Given the description of an element on the screen output the (x, y) to click on. 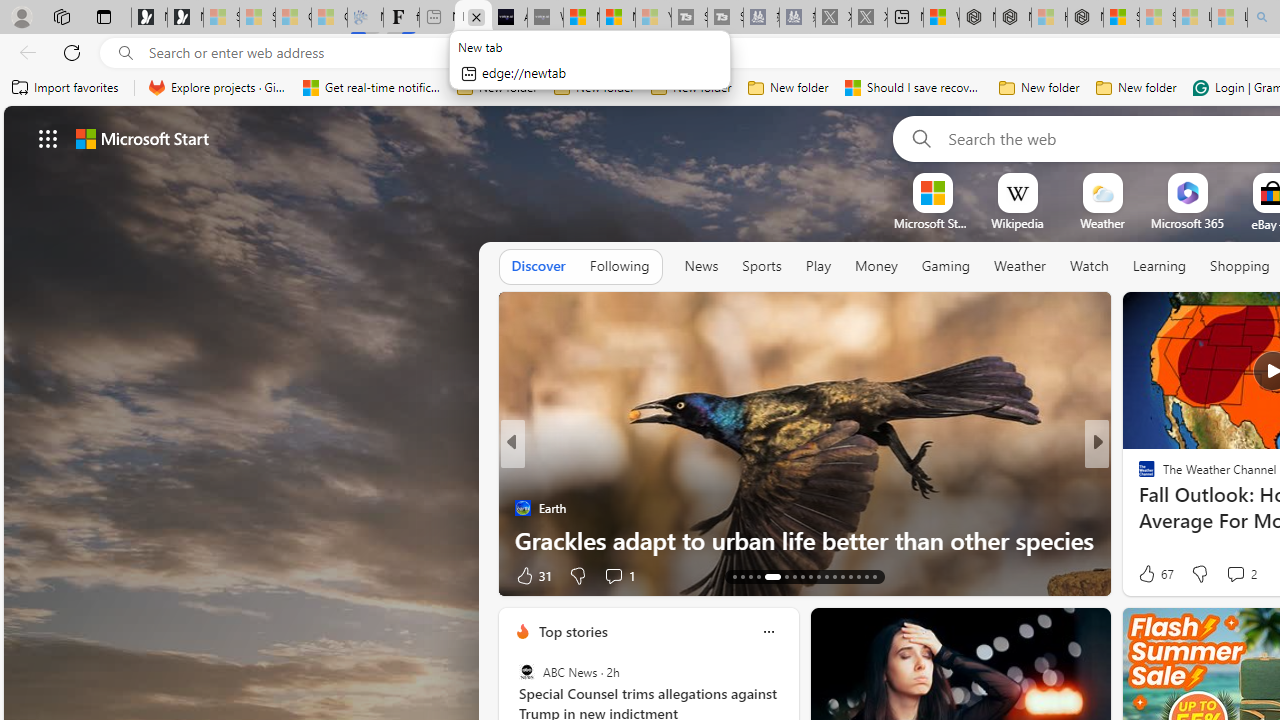
News (701, 265)
Newsletter Sign Up (185, 17)
ABC News (526, 672)
View comments 2 Comment (1234, 573)
Start the conversation (1234, 575)
Back (24, 52)
Nordace - Nordace Siena Is Not An Ordinary Backpack (1085, 17)
Class: icon-img (768, 632)
Microsoft 365 (1186, 223)
Wildlife - MSN (941, 17)
AutomationID: tab-24 (801, 576)
Search (917, 138)
Ad Choice (1087, 575)
